Given the description of an element on the screen output the (x, y) to click on. 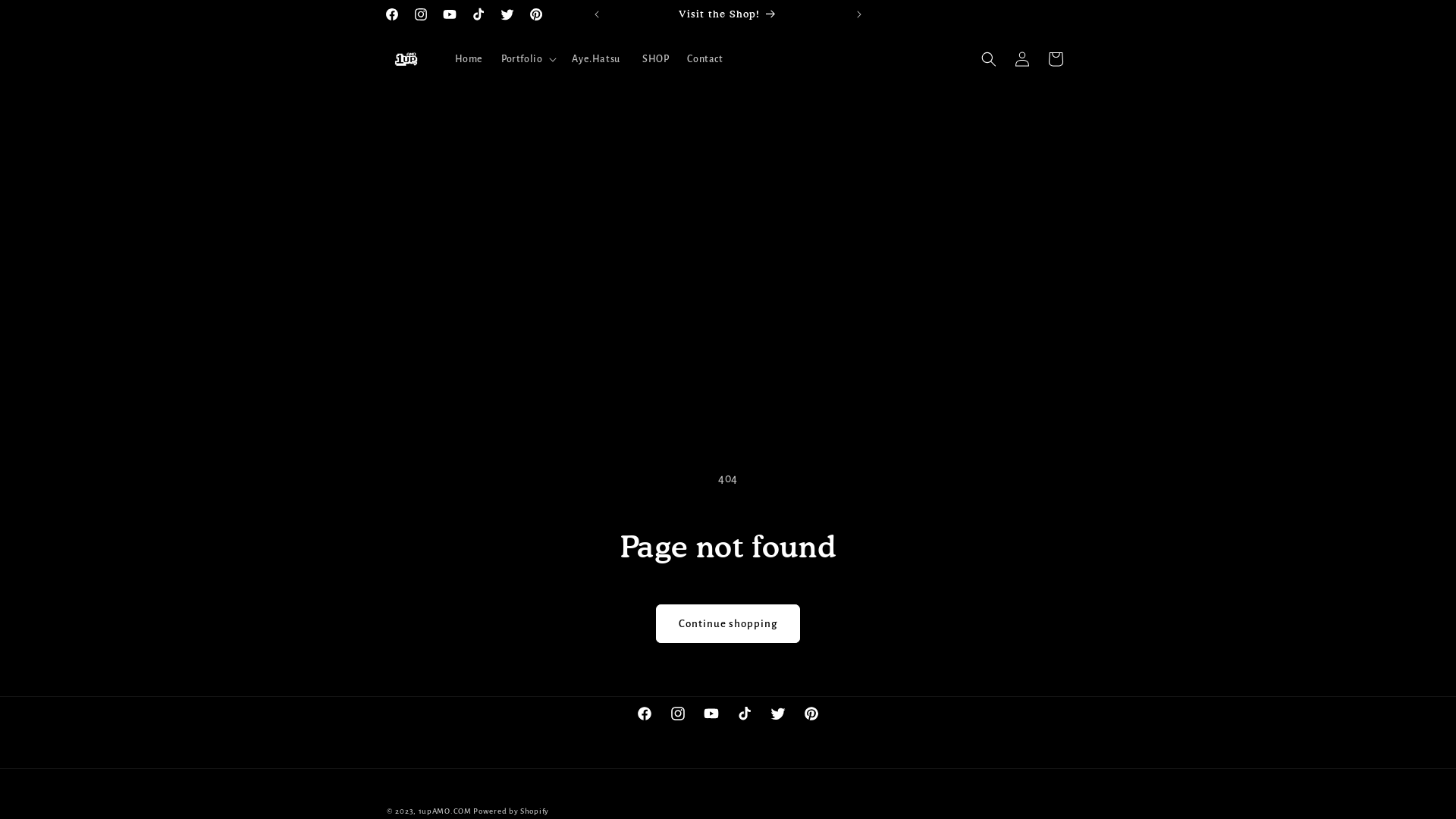
Pinterest Element type: text (535, 14)
Instagram Element type: text (420, 14)
1upAMO.COM Element type: text (444, 810)
TikTok Element type: text (744, 713)
Continue shopping Element type: text (727, 623)
Contact Element type: text (704, 59)
Twitter Element type: text (506, 14)
Log in Element type: text (1021, 58)
TikTok Element type: text (478, 14)
Facebook Element type: text (391, 14)
Instagram Element type: text (677, 713)
Home Element type: text (468, 59)
Facebook Element type: text (644, 713)
Visit the Shop! Element type: text (962, 14)
Twitter Element type: text (777, 713)
Pinterest Element type: text (811, 713)
YouTube Element type: text (711, 713)
Powered by Shopify Element type: text (511, 810)
SHOP Element type: text (655, 59)
YouTube Element type: text (449, 14)
Cart Element type: text (1055, 58)
